Given the description of an element on the screen output the (x, y) to click on. 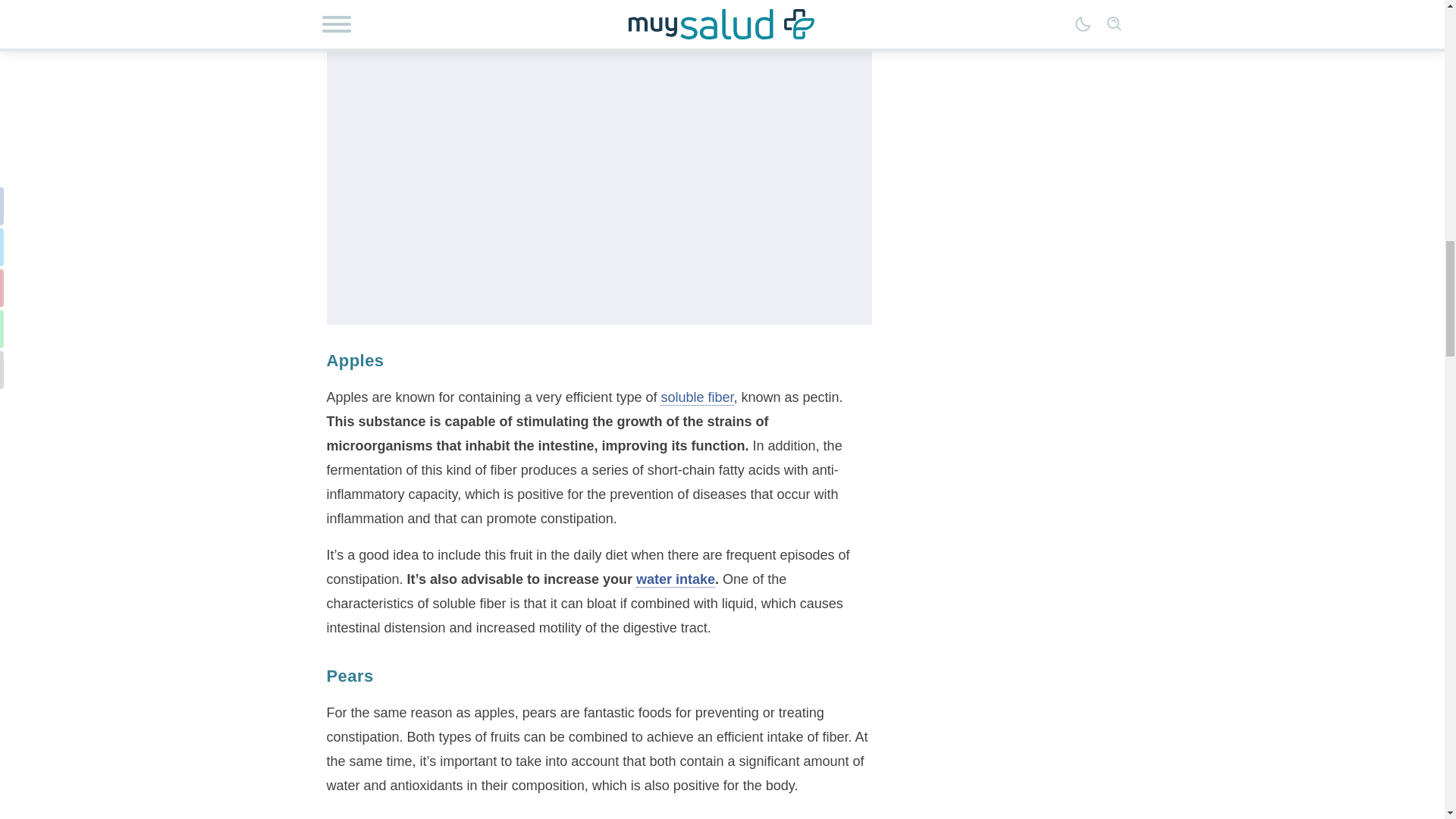
soluble fiber (697, 397)
water intake (675, 579)
